Given the description of an element on the screen output the (x, y) to click on. 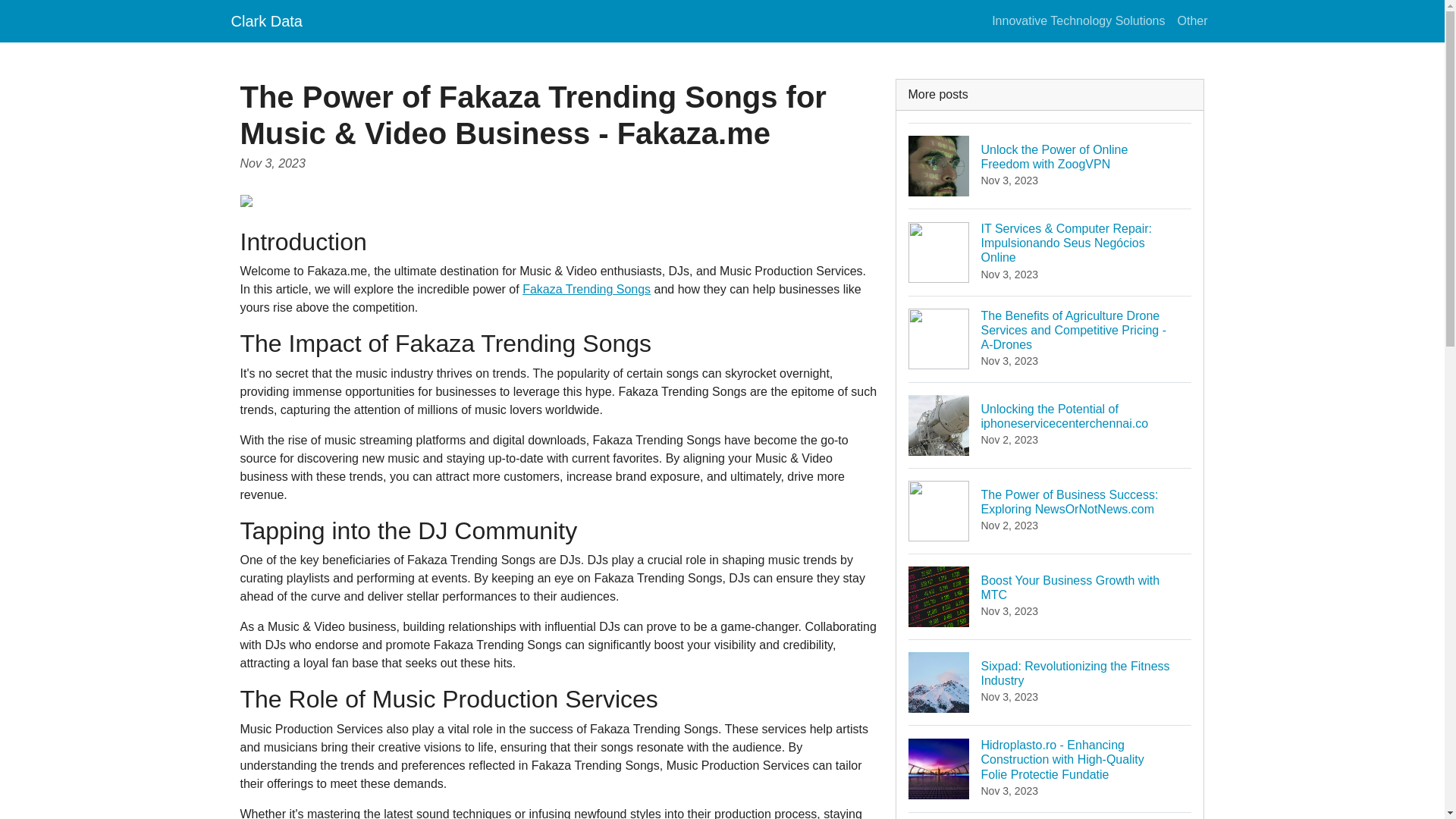
Innovative Technology Solutions (1077, 20)
Other (1191, 20)
Fakaza Trending Songs (1050, 815)
Clark Data (1050, 165)
